Given the description of an element on the screen output the (x, y) to click on. 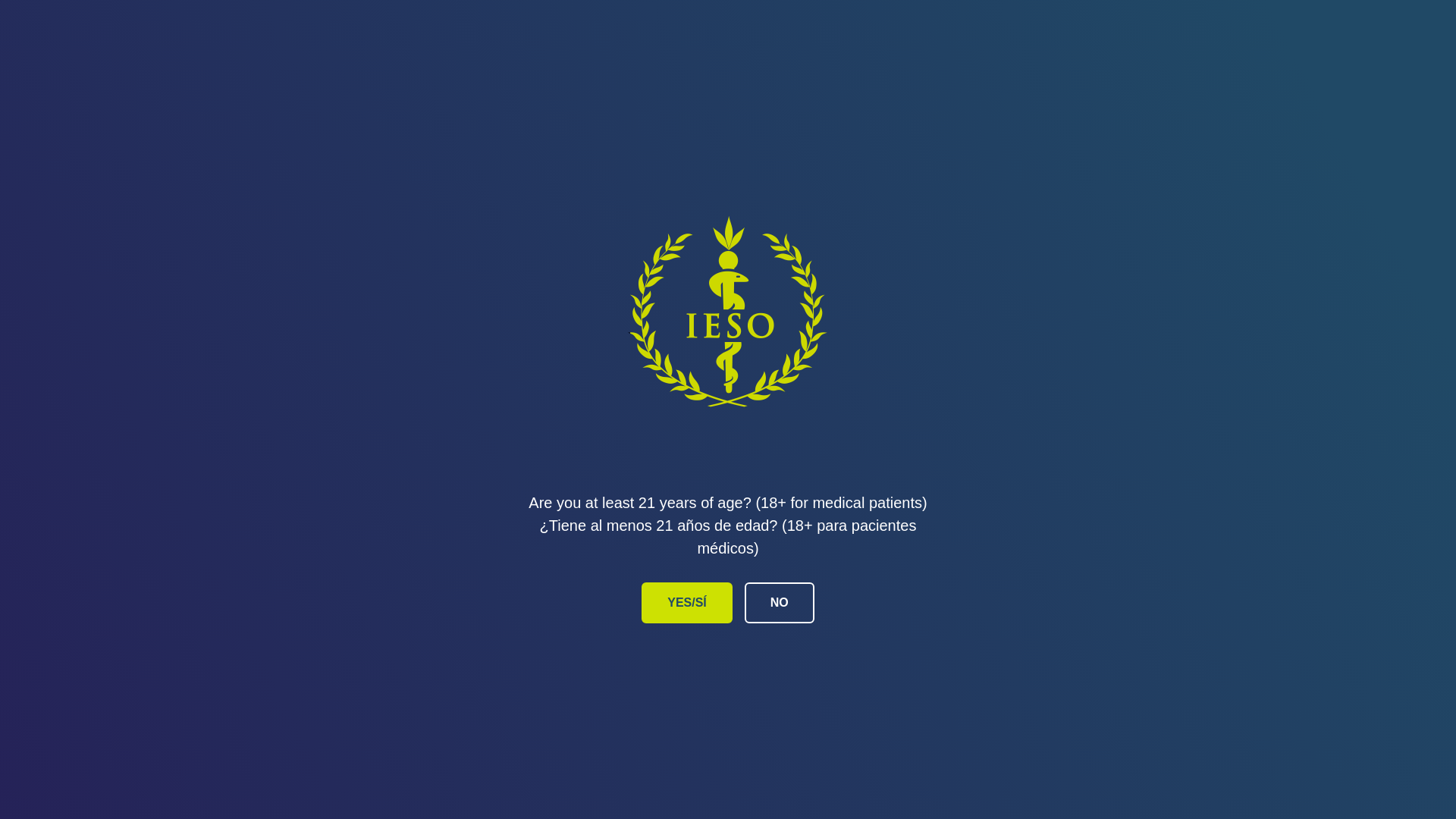
ABOUT US (1155, 58)
BRANDS (746, 58)
CAREERS (1010, 58)
STRAINS (880, 58)
elevate your day (185, 58)
